Given the description of an element on the screen output the (x, y) to click on. 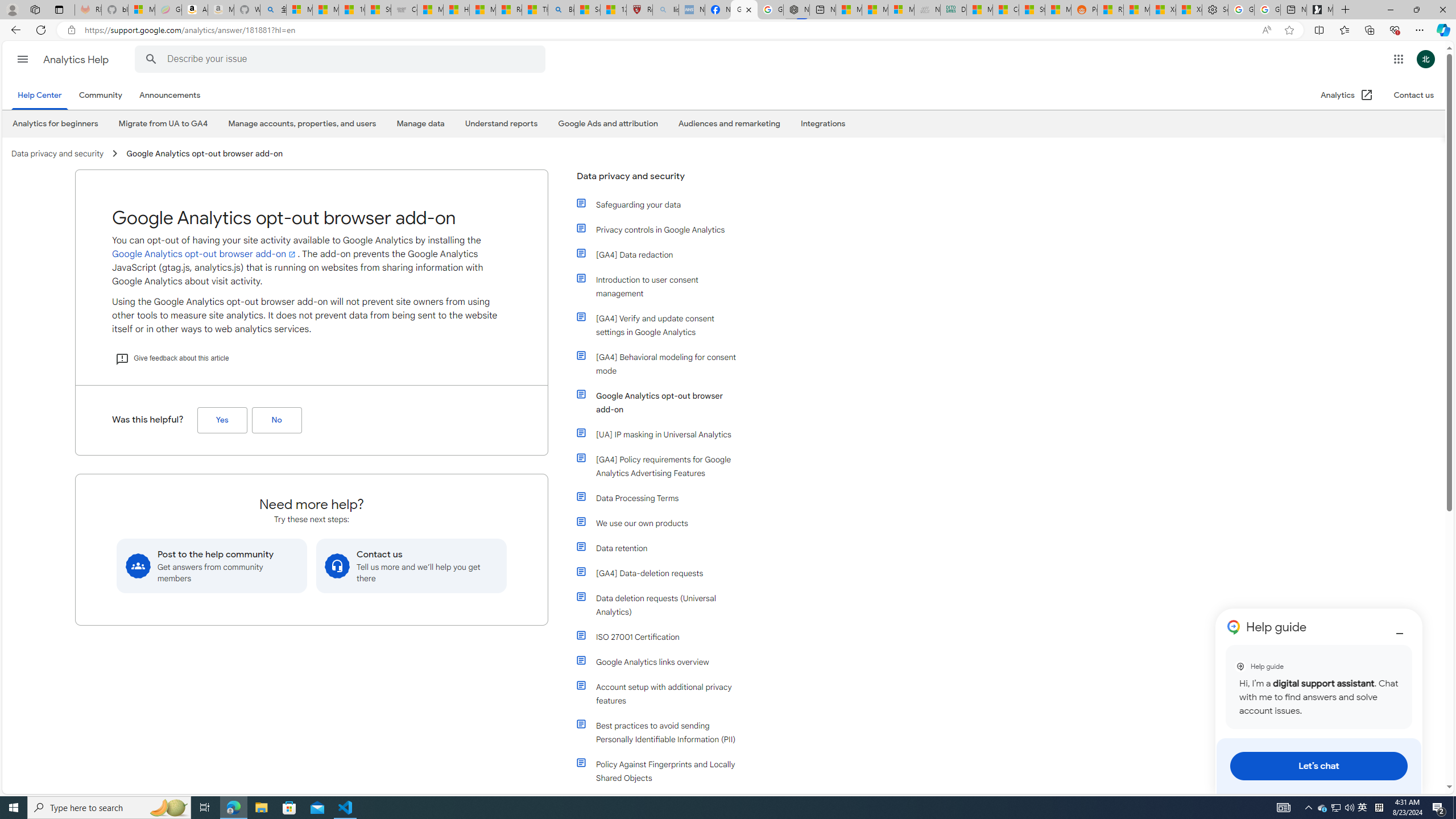
Class: need-more-help-option__svg-background (337, 565)
[GA4] Behavioral modeling for consent mode (664, 363)
Stocks - MSN (1031, 9)
Migrate from UA to GA4 (162, 123)
[GA4] Data redaction (664, 254)
Account setup with additional privacy features (664, 693)
Yes (Was this helpful?) (221, 420)
